Given the description of an element on the screen output the (x, y) to click on. 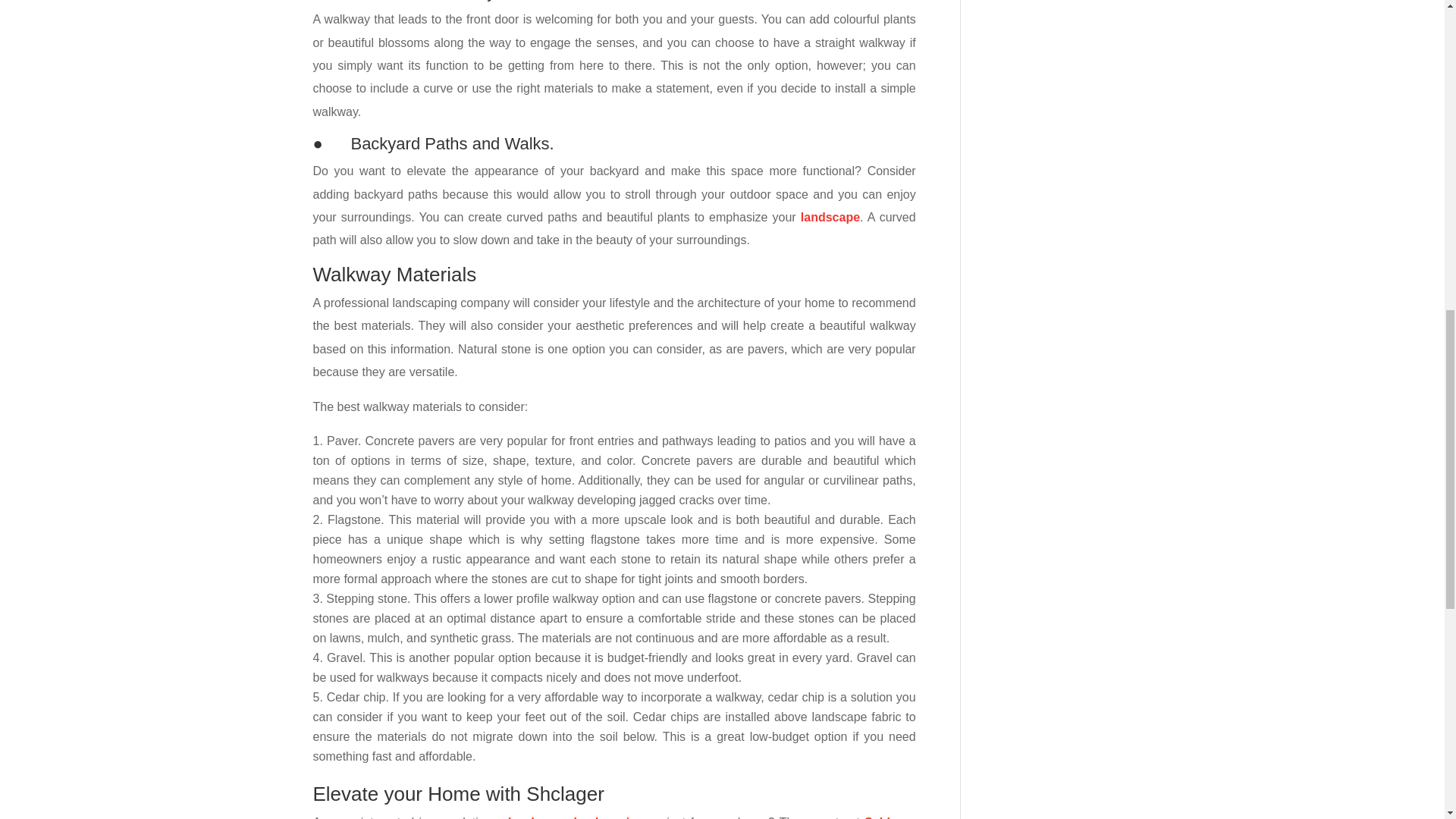
hardscape landscaping (576, 817)
landscape (830, 216)
